Given the description of an element on the screen output the (x, y) to click on. 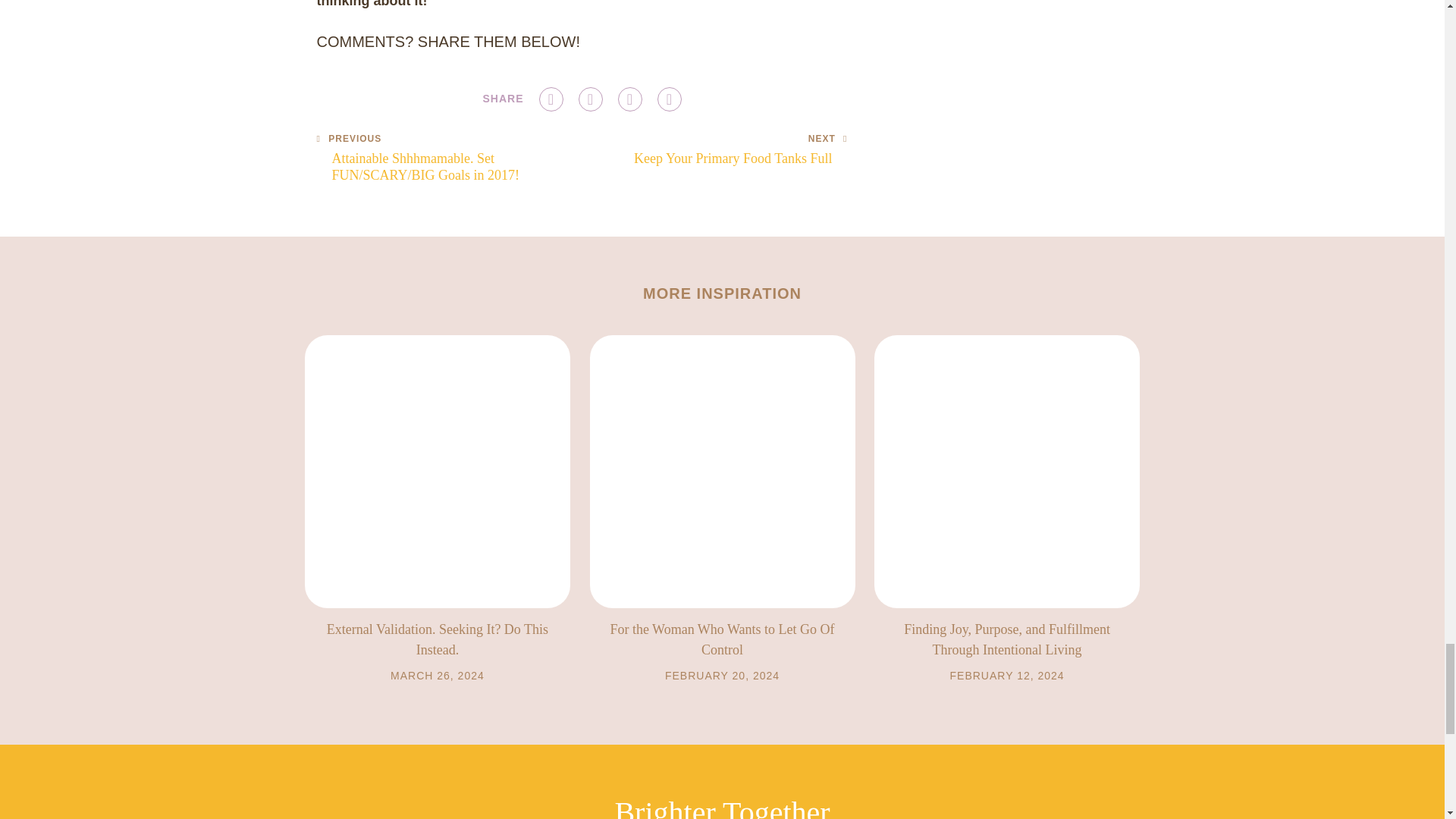
Share via E-mail (668, 98)
For the Woman Who Wants to Let Go Of Control (722, 639)
Share on Pinterest (740, 150)
Share on Twitter (629, 98)
External Validation. Seeking It? Do This Instead. (590, 98)
Share on Facebook (437, 639)
